Given the description of an element on the screen output the (x, y) to click on. 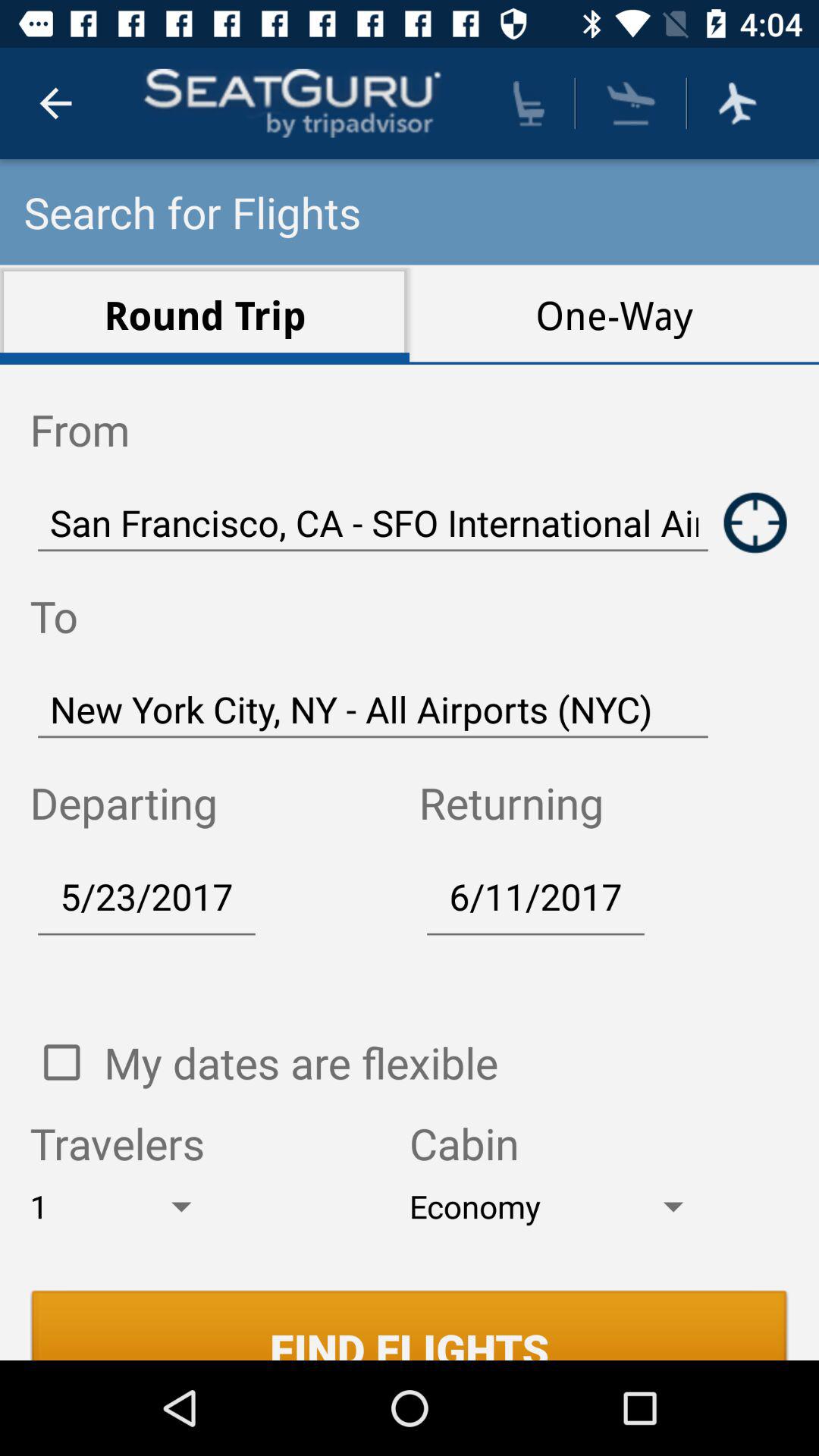
turn on the icon above one-way (630, 103)
